Given the description of an element on the screen output the (x, y) to click on. 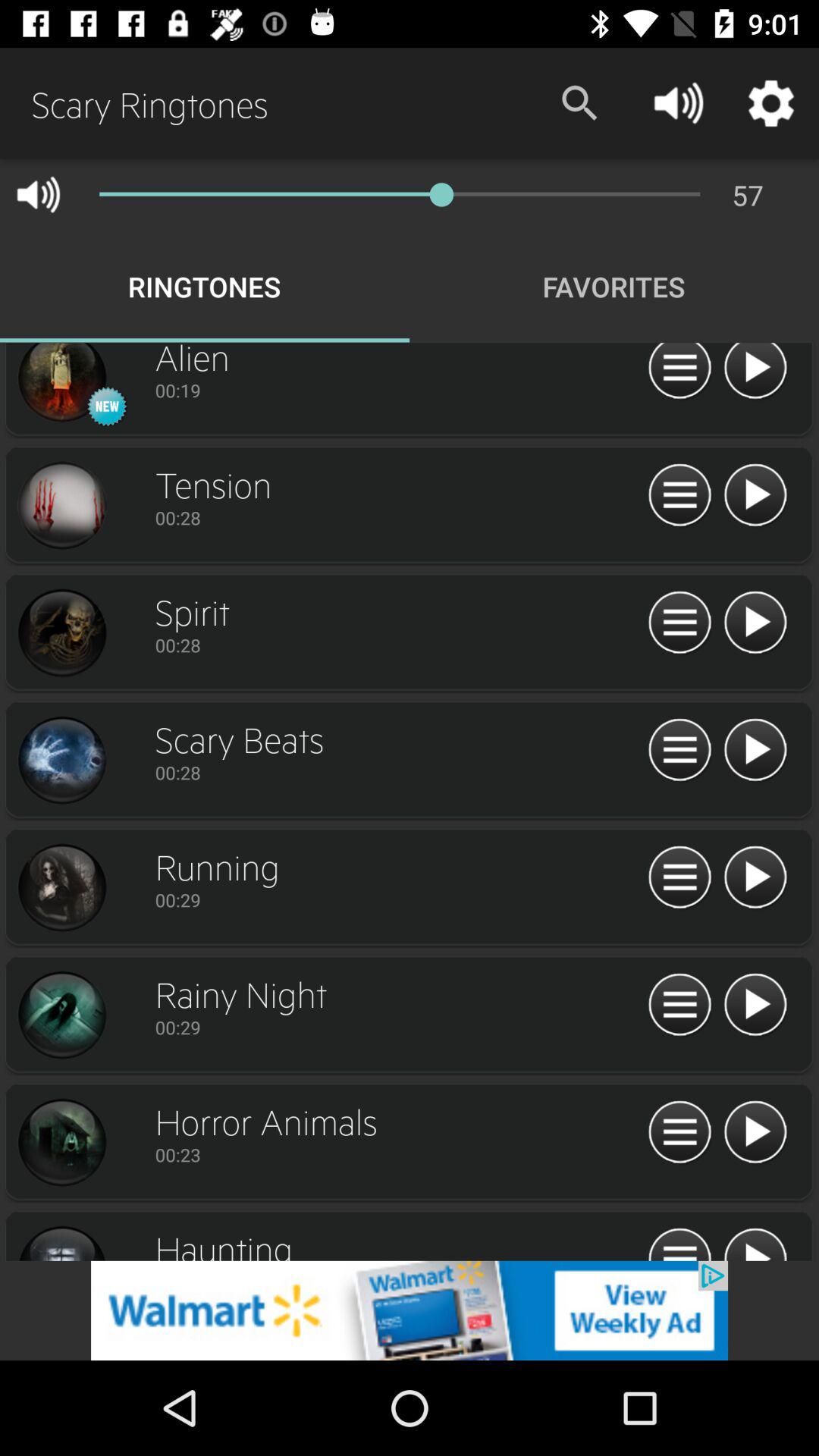
more info (679, 495)
